Given the description of an element on the screen output the (x, y) to click on. 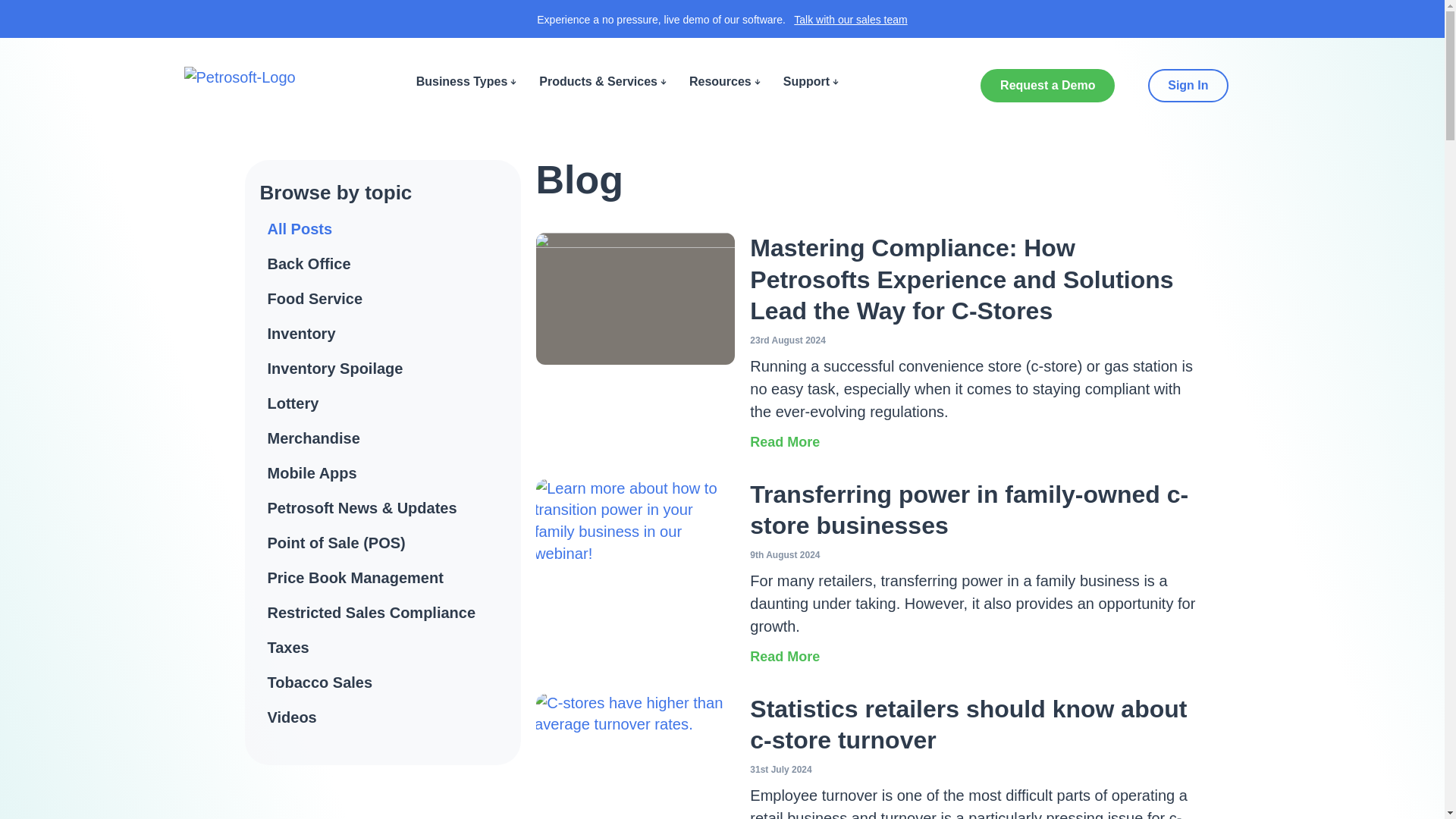
Talk with our sales team (850, 19)
Business Types (466, 81)
Resources (724, 81)
Support (810, 81)
